Given the description of an element on the screen output the (x, y) to click on. 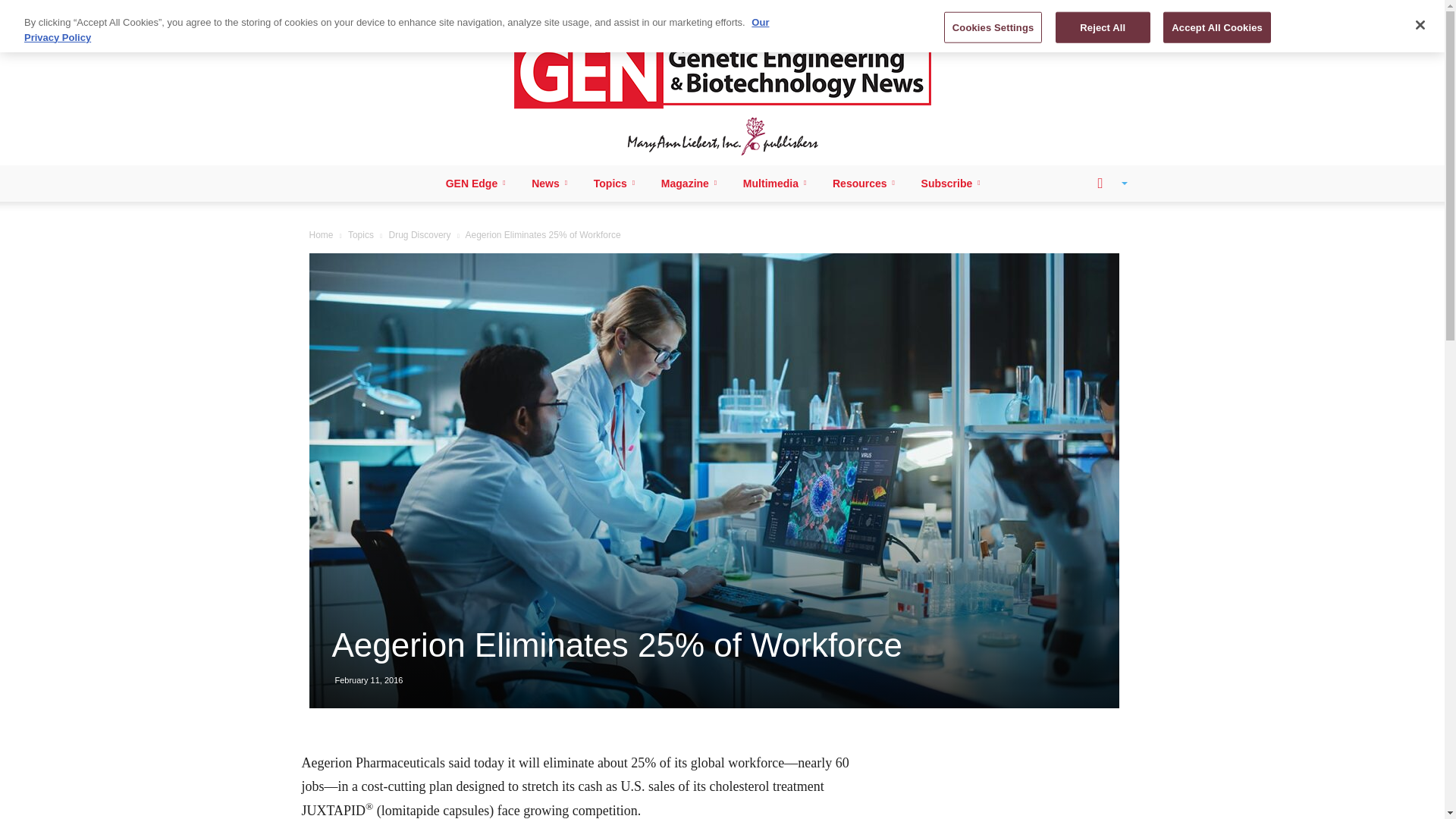
Youtube (429, 10)
RSS (379, 10)
View all posts in Topics (360, 235)
View all posts in Drug Discovery (419, 235)
Twitter (403, 10)
Linkedin (353, 10)
Facebook (328, 10)
